Given the description of an element on the screen output the (x, y) to click on. 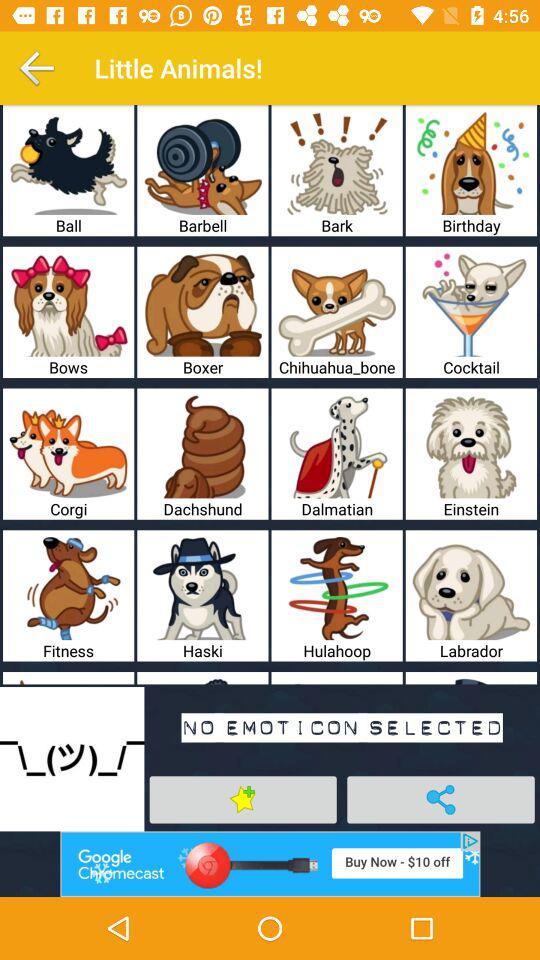
back button (36, 68)
